Given the description of an element on the screen output the (x, y) to click on. 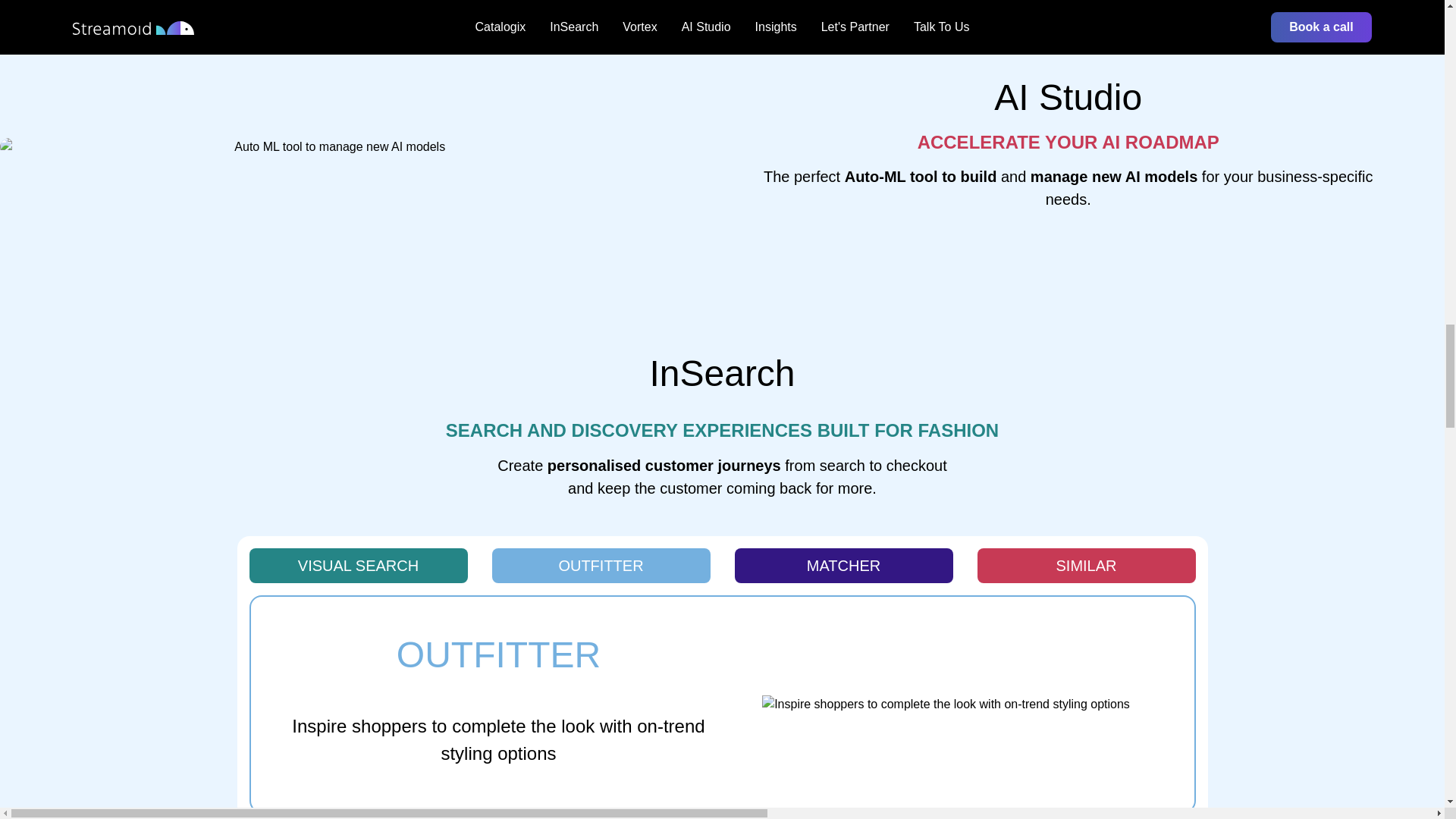
SIMILAR (721, 565)
MATCHER (1085, 565)
OUTFITTER (842, 565)
VISUAL SEARCH (601, 565)
